Given the description of an element on the screen output the (x, y) to click on. 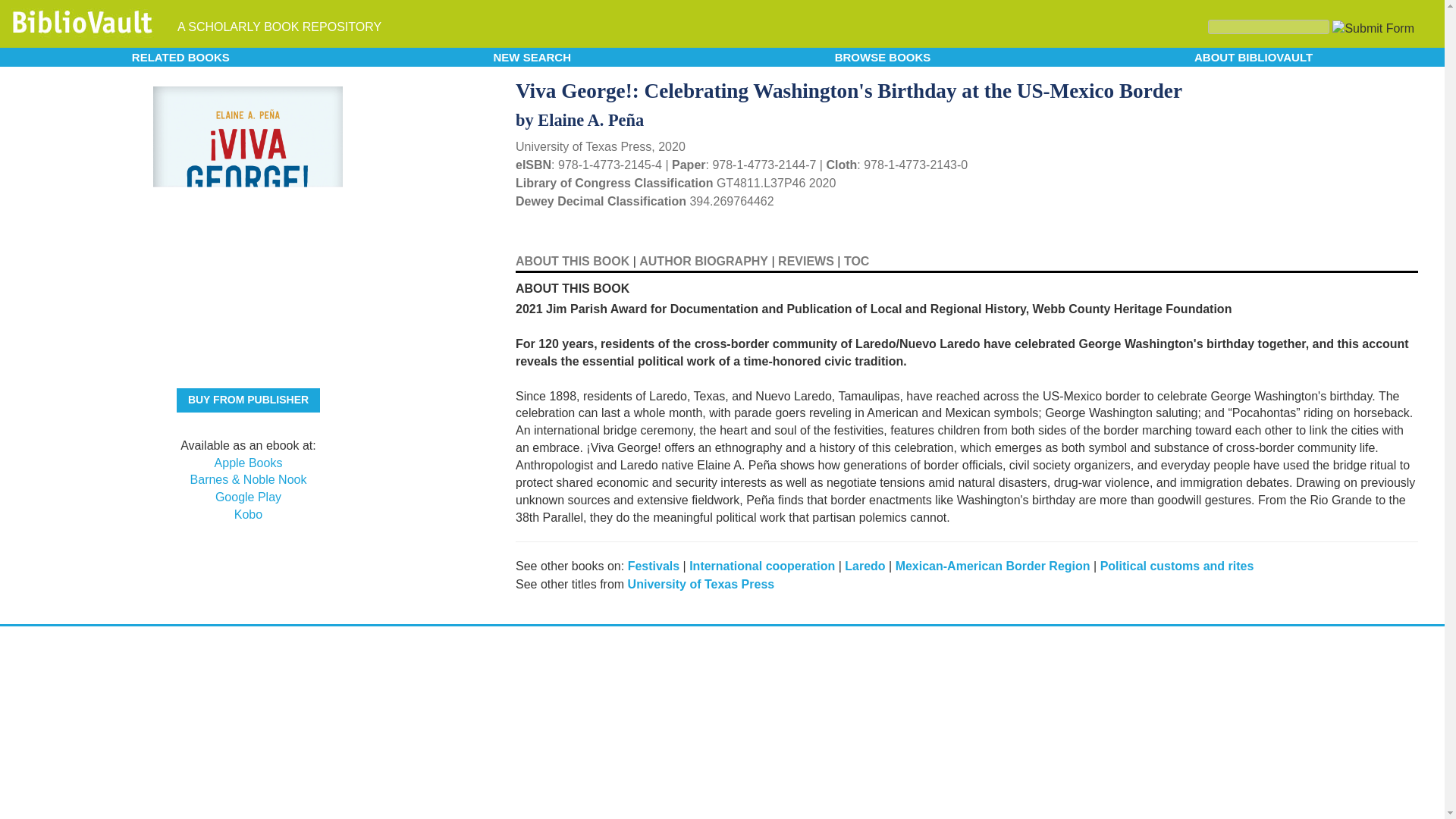
Search (1268, 26)
Share on Facebook (1384, 90)
Google Play (248, 496)
RELATED BOOKS (180, 56)
NEW SEARCH (532, 56)
BUY FROM PUBLISHER (248, 400)
Share on Twitter (1358, 86)
Kobo (248, 513)
BROWSE BOOKS (882, 56)
Apple Books (248, 462)
